Given the description of an element on the screen output the (x, y) to click on. 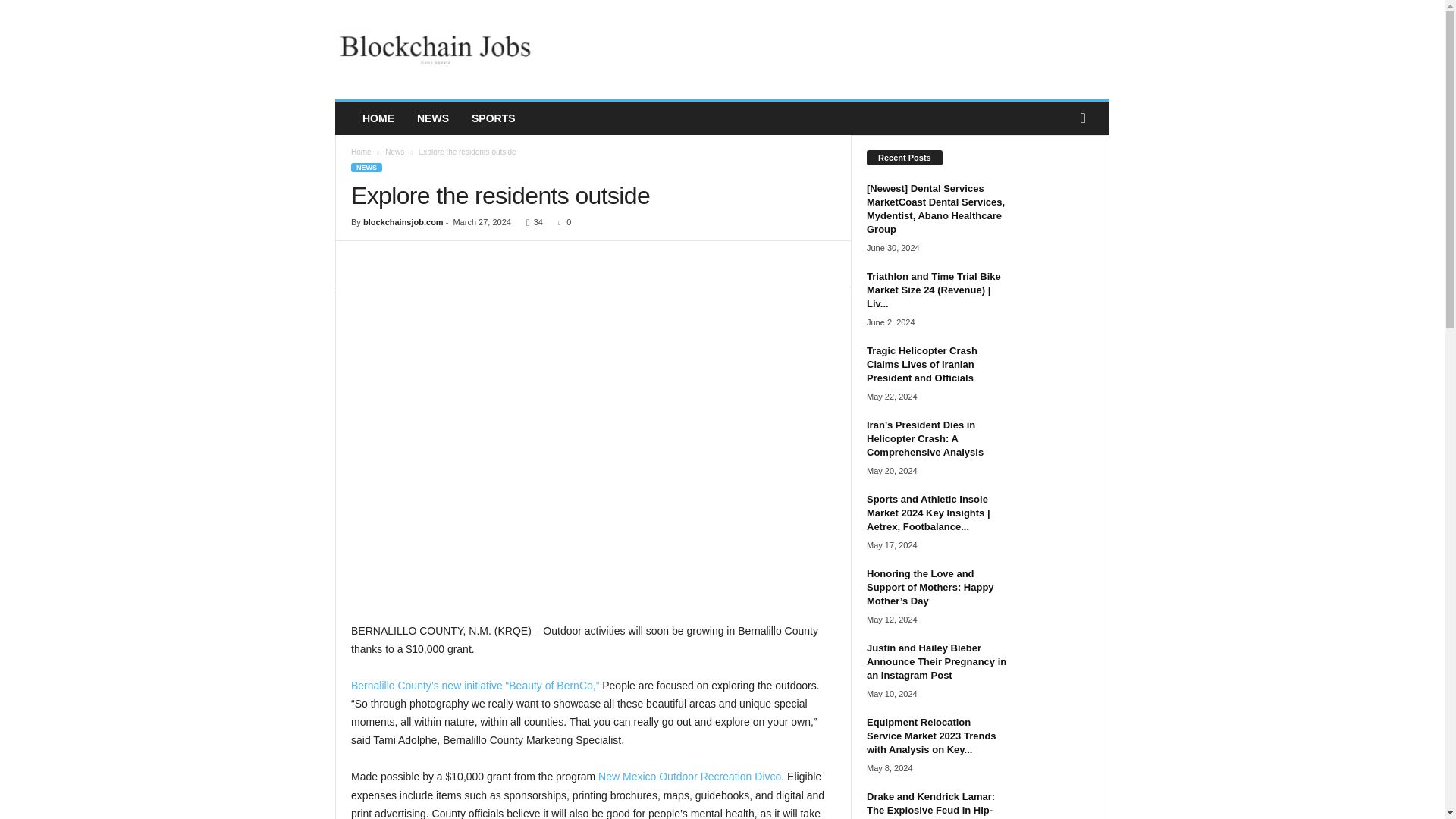
News (394, 152)
View all posts in News (394, 152)
SPORTS (493, 118)
HOME (378, 118)
blockchainsjob.com (403, 221)
NEWS (433, 118)
0 (560, 221)
Blockchain Jobs (437, 48)
NEWS (365, 166)
Home (360, 152)
New Mexico Outdoor Recreation Divco (689, 776)
